Given the description of an element on the screen output the (x, y) to click on. 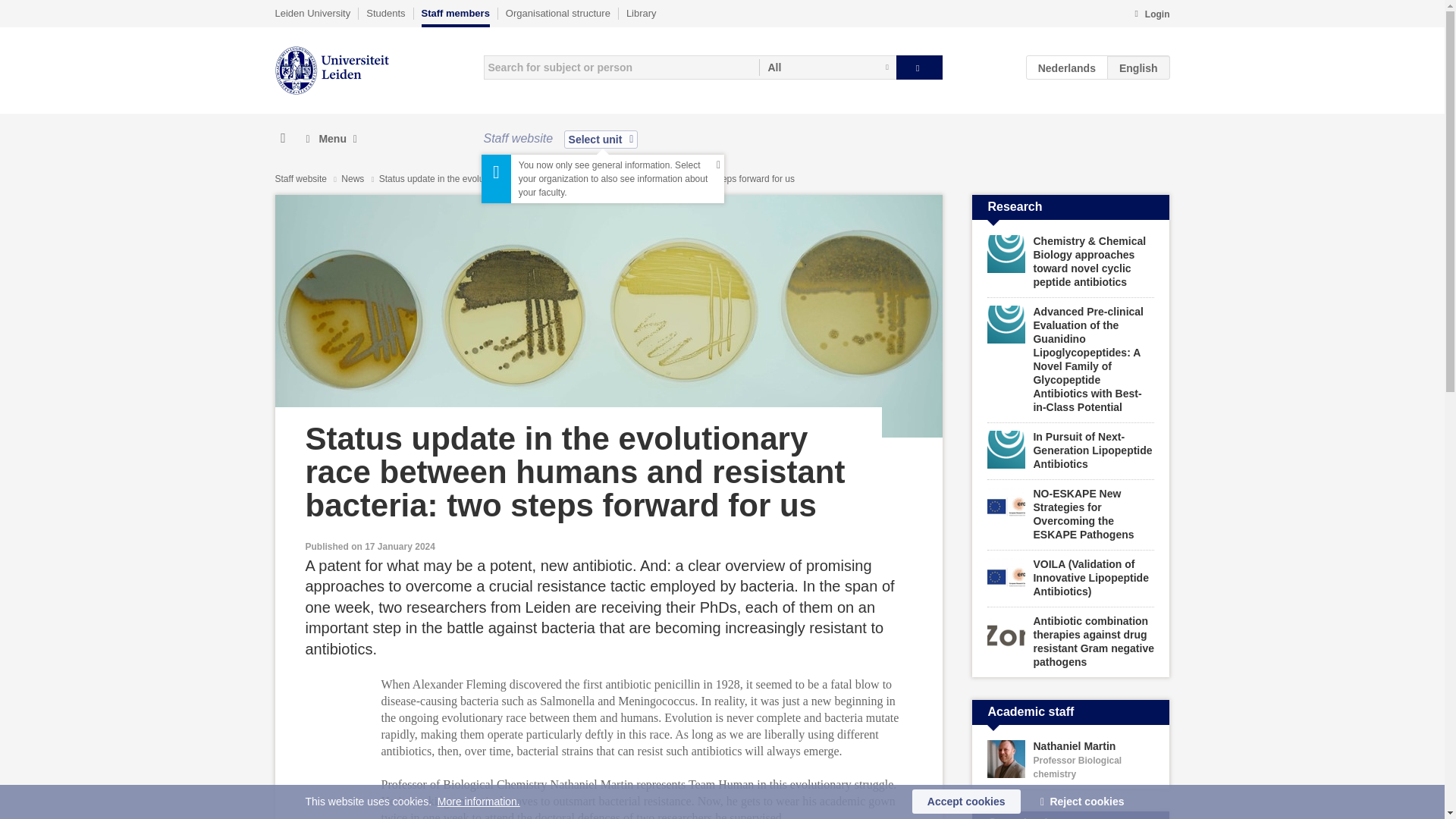
Staff members (455, 17)
Select unit (601, 139)
Menu (330, 139)
Login (1151, 14)
All (827, 67)
Search (919, 67)
Organisational structure (557, 13)
Library (641, 13)
Leiden University (312, 13)
Students (385, 13)
